Given the description of an element on the screen output the (x, y) to click on. 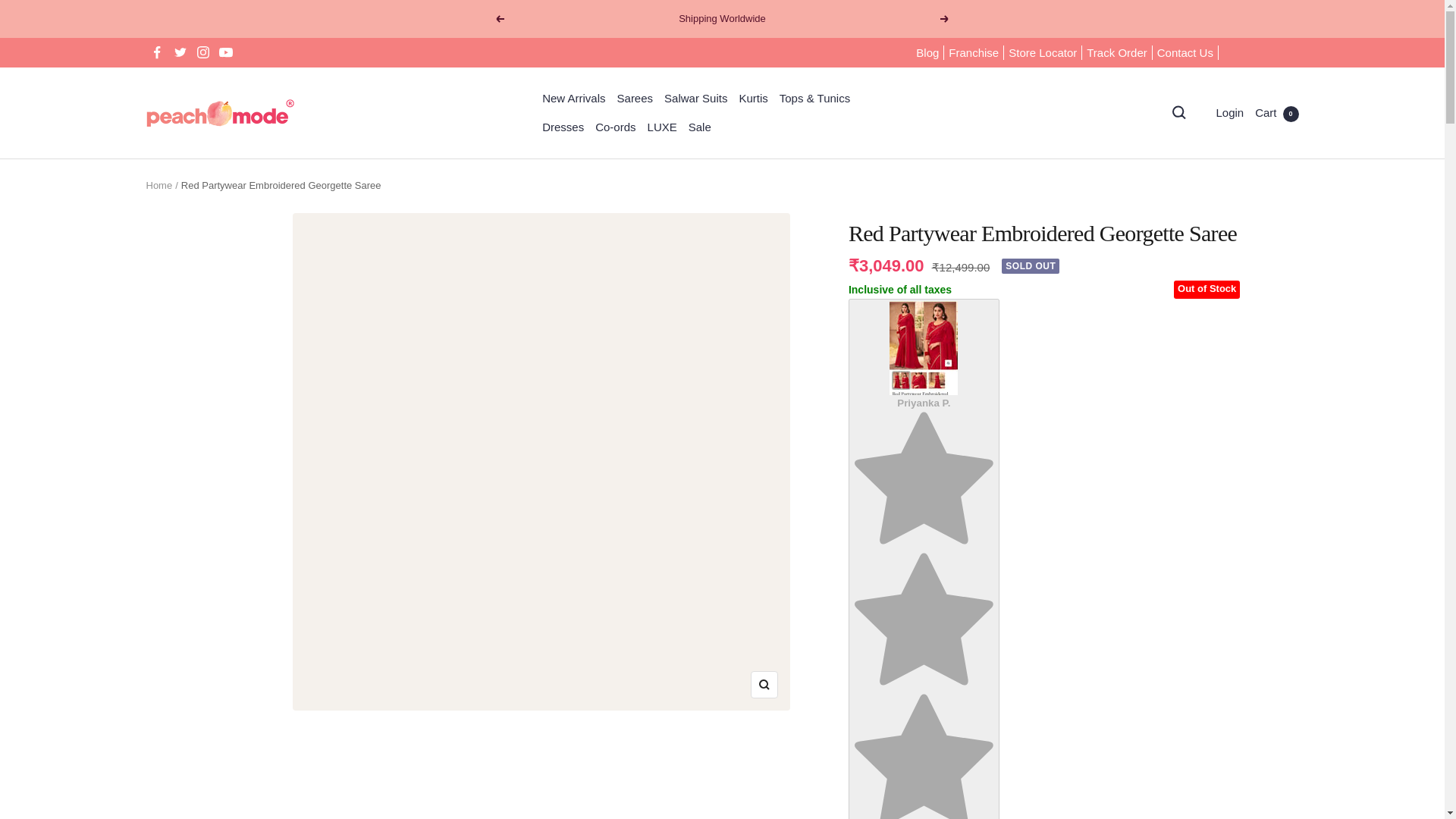
DK (1201, 229)
NZ (1201, 605)
HK (1201, 354)
NO (1201, 629)
NL (1201, 579)
Blog (927, 52)
Previous (499, 18)
IE (1201, 404)
PT (1201, 680)
MY (1201, 529)
